Given the description of an element on the screen output the (x, y) to click on. 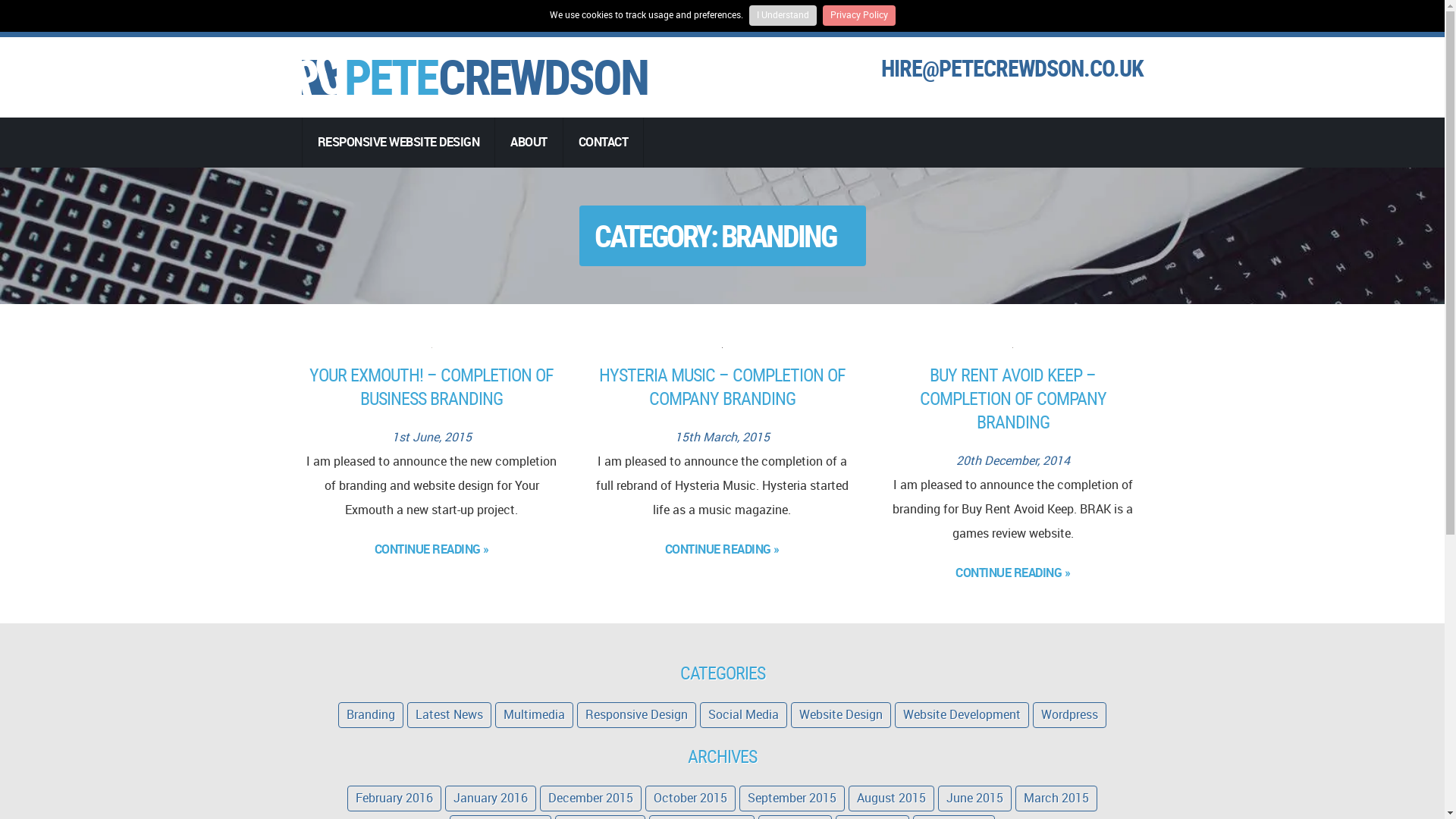
January 2016 (490, 798)
ABOUT (528, 142)
June 2013 (871, 816)
October 2014 (599, 816)
Website Development (962, 714)
RESPONSIVE WEBSITE DESIGN (398, 142)
Branding (370, 714)
CONTACT (603, 142)
October 2015 (690, 798)
June 2015 (974, 798)
PETE CREWDSON (474, 77)
Latest News (449, 714)
Privacy Policy (858, 14)
September 2015 (791, 798)
December 2014 (500, 816)
